Given the description of an element on the screen output the (x, y) to click on. 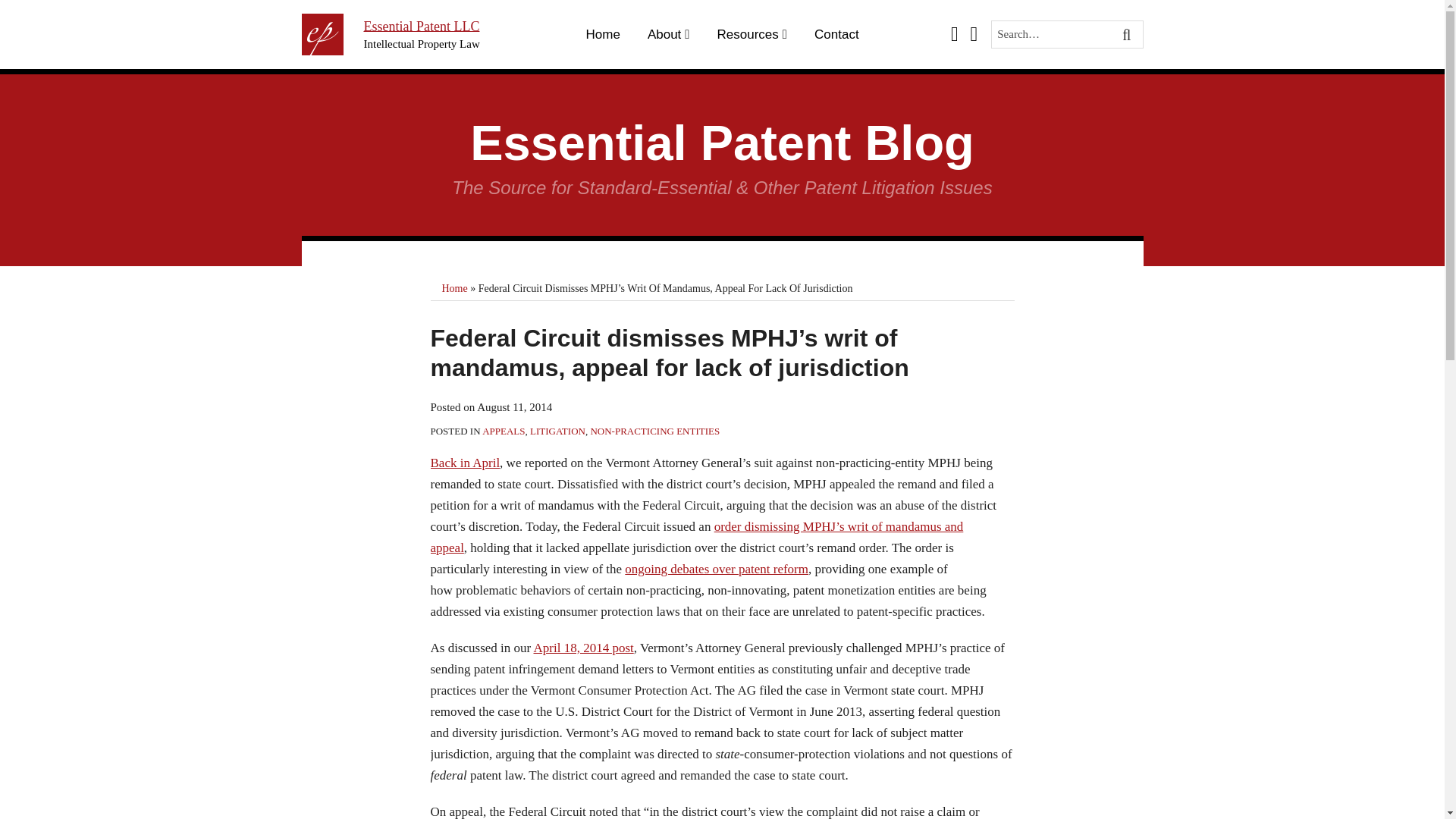
SEARCH (1128, 34)
ongoing debates over patent reform (716, 568)
Contact (836, 34)
LITIGATION (557, 430)
NON-PRACTICING ENTITIES (654, 430)
Resources (747, 34)
Senator Leahy pulls patent litigation reform bill (716, 568)
April 18, 2014 post (583, 647)
APPEALS (502, 430)
Essential Patent Blog (722, 142)
Back in April (465, 462)
Home (454, 288)
essentialpatent.net (420, 25)
About (664, 34)
Home (603, 34)
